Given the description of an element on the screen output the (x, y) to click on. 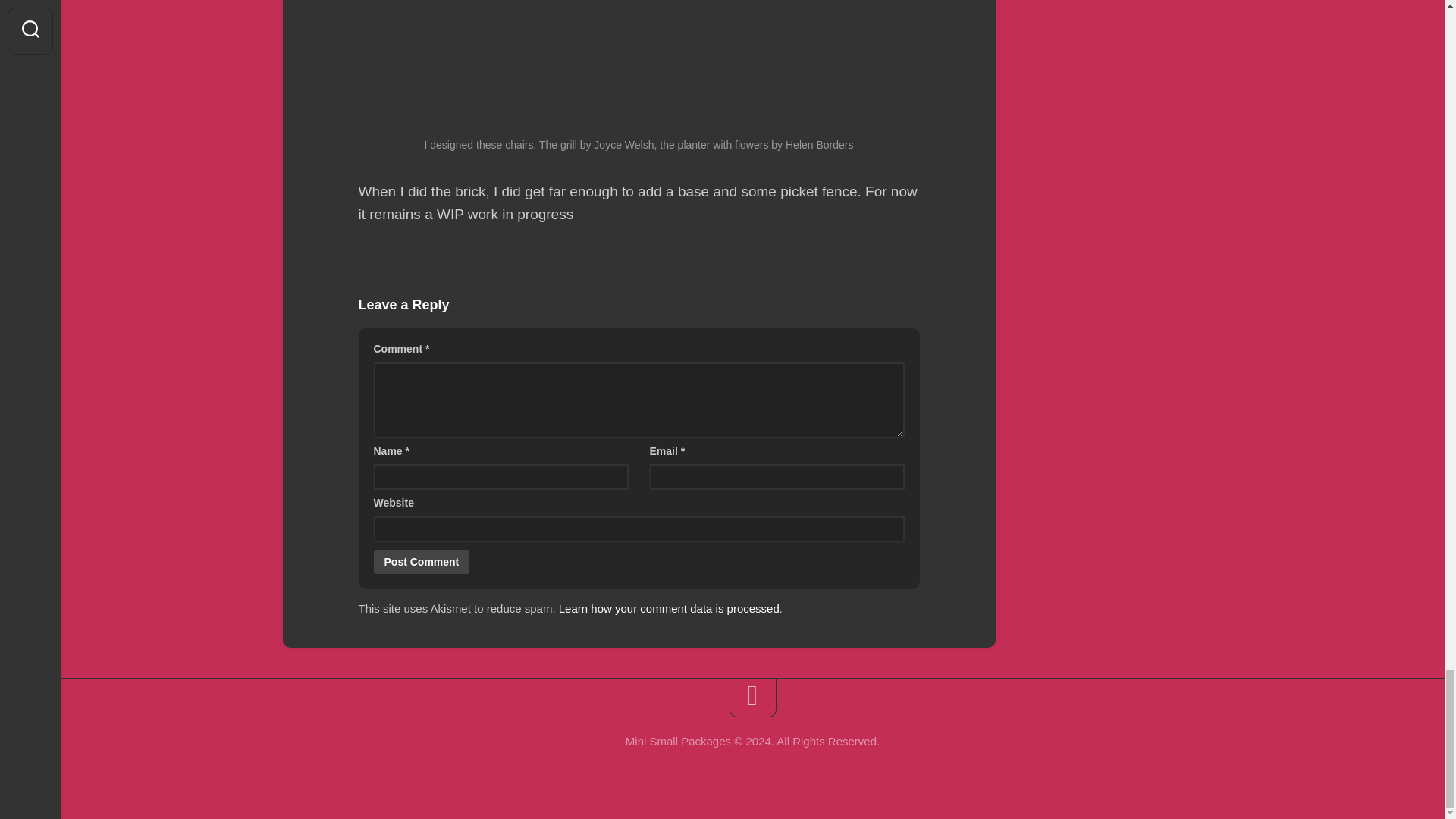
Post Comment (420, 561)
Learn how your comment data is processed (668, 608)
Post Comment (420, 561)
